Given the description of an element on the screen output the (x, y) to click on. 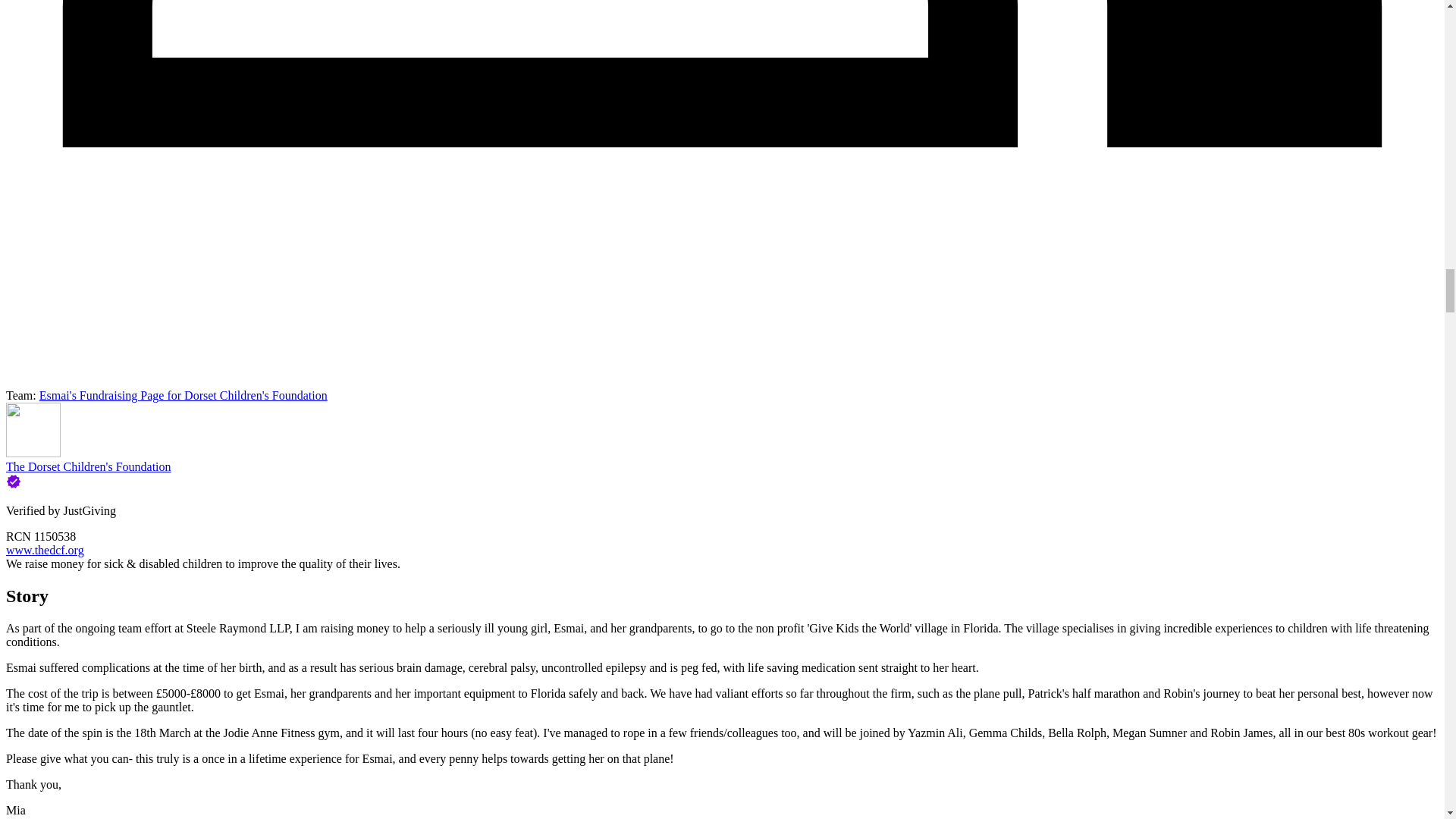
Esmai's Fundraising Page for Dorset Children's Foundation (183, 395)
The Dorset Children's Foundation (88, 466)
www.thedcf.org (44, 549)
